Given the description of an element on the screen output the (x, y) to click on. 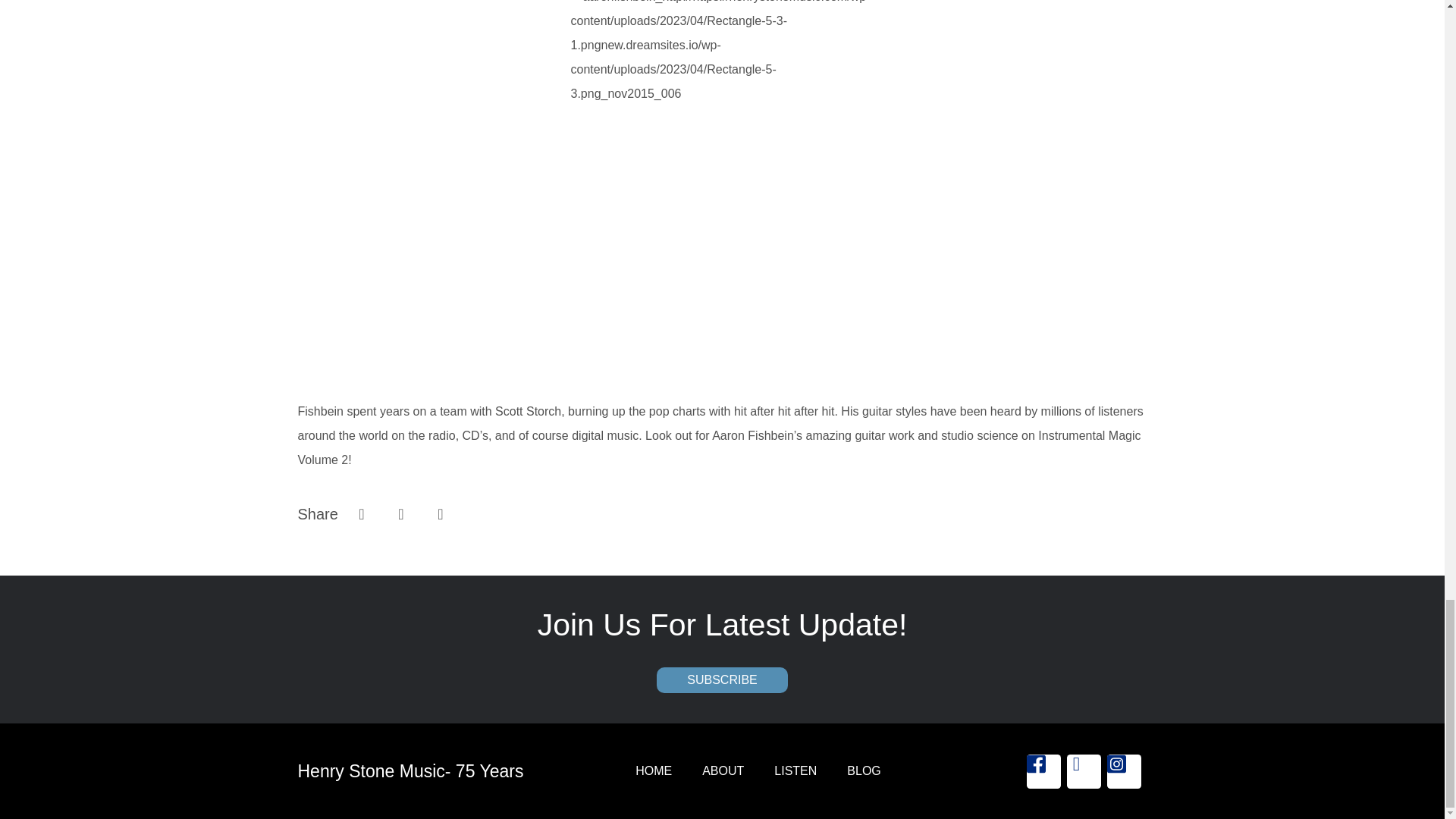
LISTEN (794, 771)
SUBSCRIBE (721, 679)
BLOG (863, 771)
Henry Stone Music- 75 Years (409, 771)
HOME (653, 771)
ABOUT (722, 771)
